Given the description of an element on the screen output the (x, y) to click on. 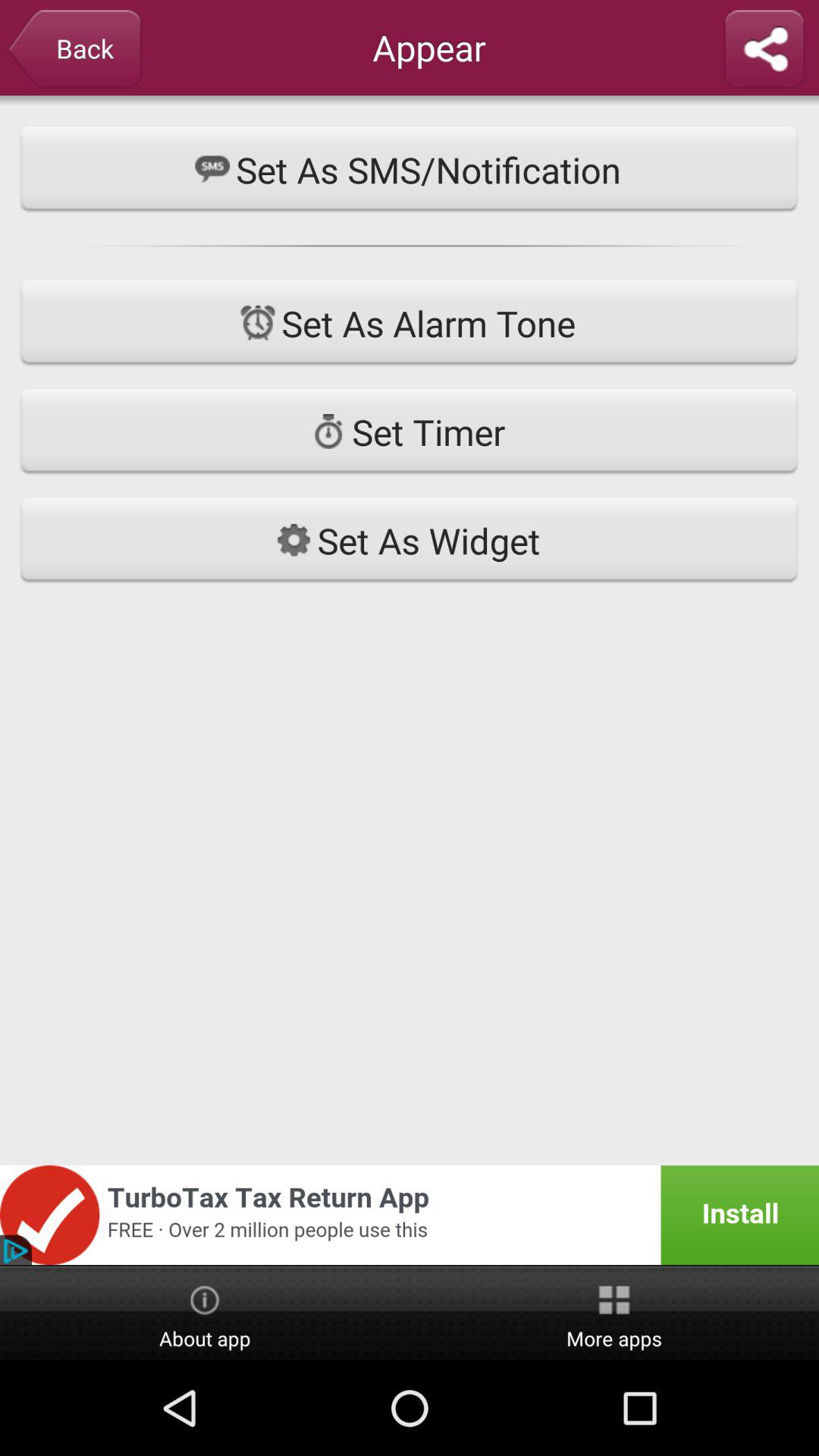
advertisement (409, 1214)
